Given the description of an element on the screen output the (x, y) to click on. 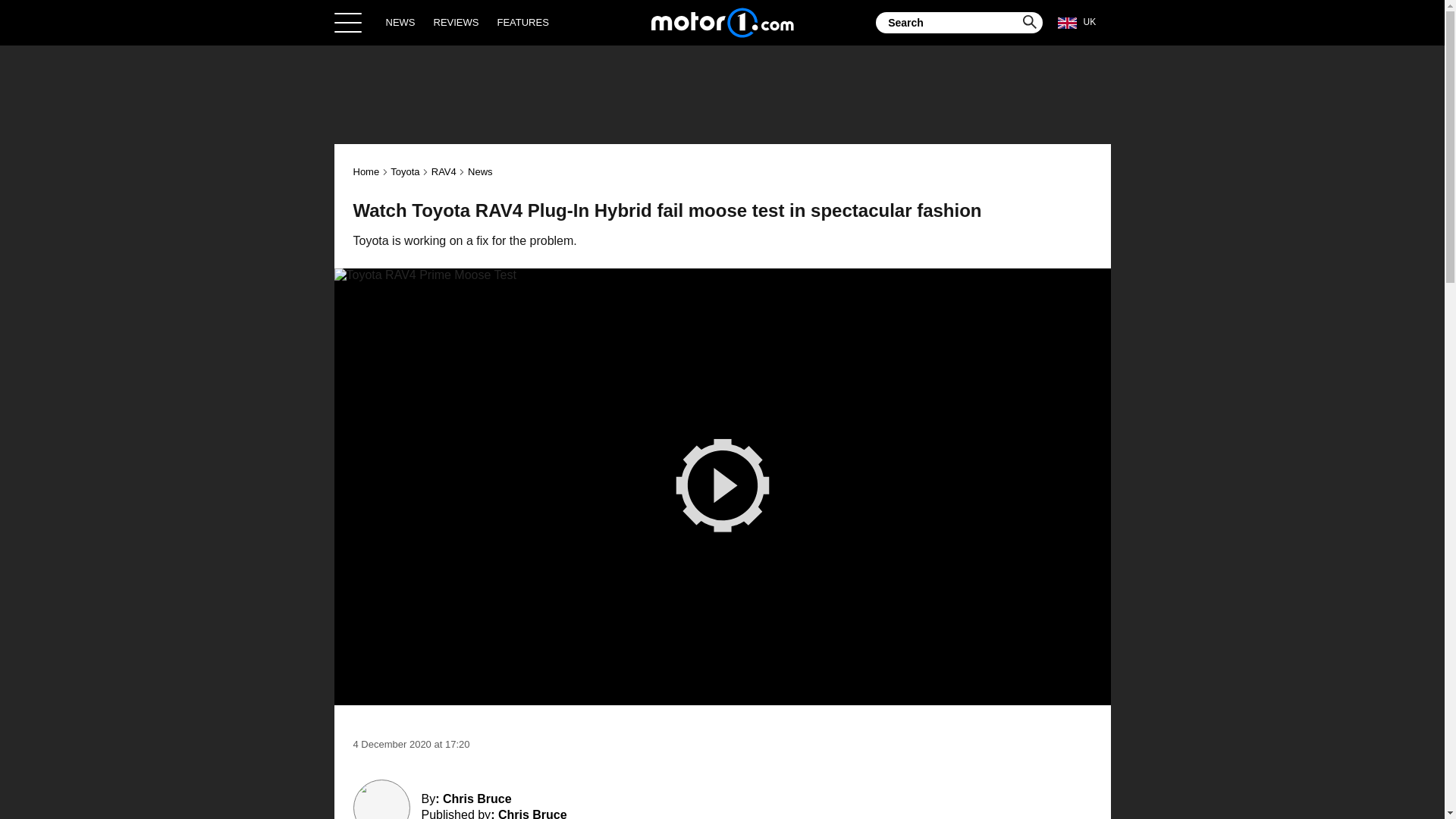
Chris Bruce (532, 813)
FEATURES (522, 22)
Home (721, 22)
NEWS (399, 22)
Toyota (404, 171)
Home (366, 171)
News (480, 171)
REVIEWS (456, 22)
RAV4 (443, 171)
